Given the description of an element on the screen output the (x, y) to click on. 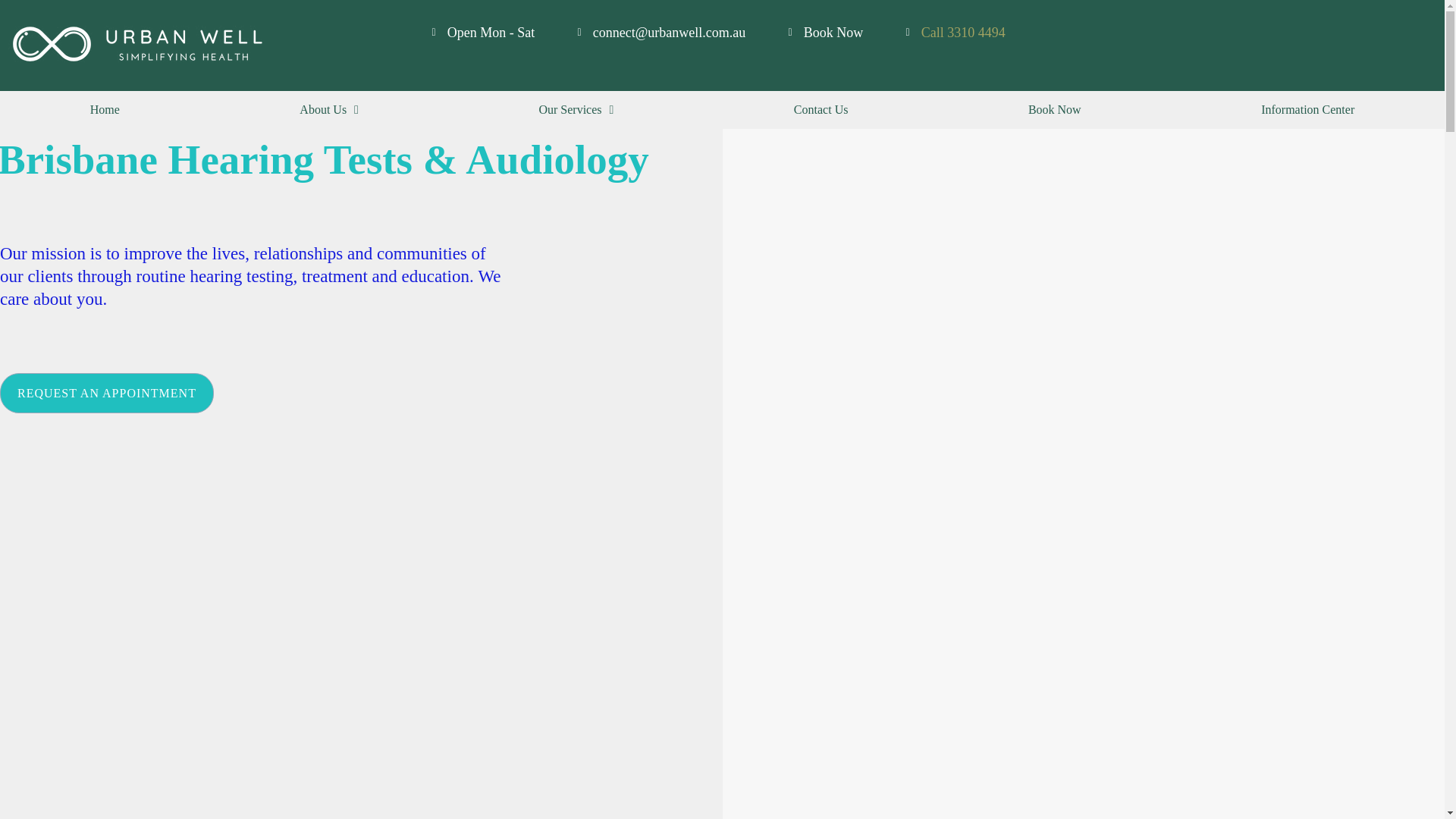
REQUEST AN APPOINTMENT (107, 393)
About Us (328, 109)
Contact Us (820, 109)
Book Now (823, 32)
Home (104, 109)
Book Now (1053, 109)
Our Services (575, 109)
Call 3310 4494 (963, 32)
